Given the description of an element on the screen output the (x, y) to click on. 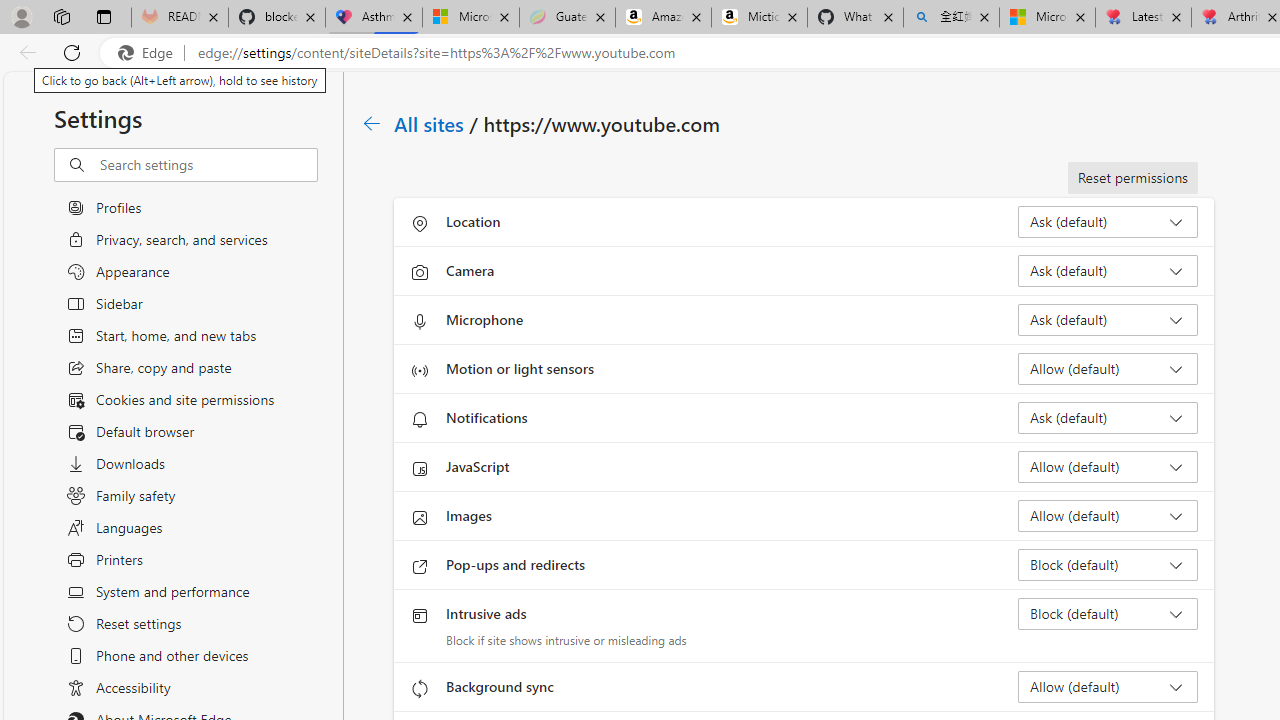
Location Ask (default) (1107, 221)
Background sync Allow (default) (1107, 686)
Search settings (207, 165)
Images Allow (default) (1107, 515)
JavaScript Allow (default) (1107, 466)
Microphone Ask (default) (1107, 319)
Microsoft-Report a Concern to Bing (470, 17)
Go back to All sites page. (372, 123)
